Given the description of an element on the screen output the (x, y) to click on. 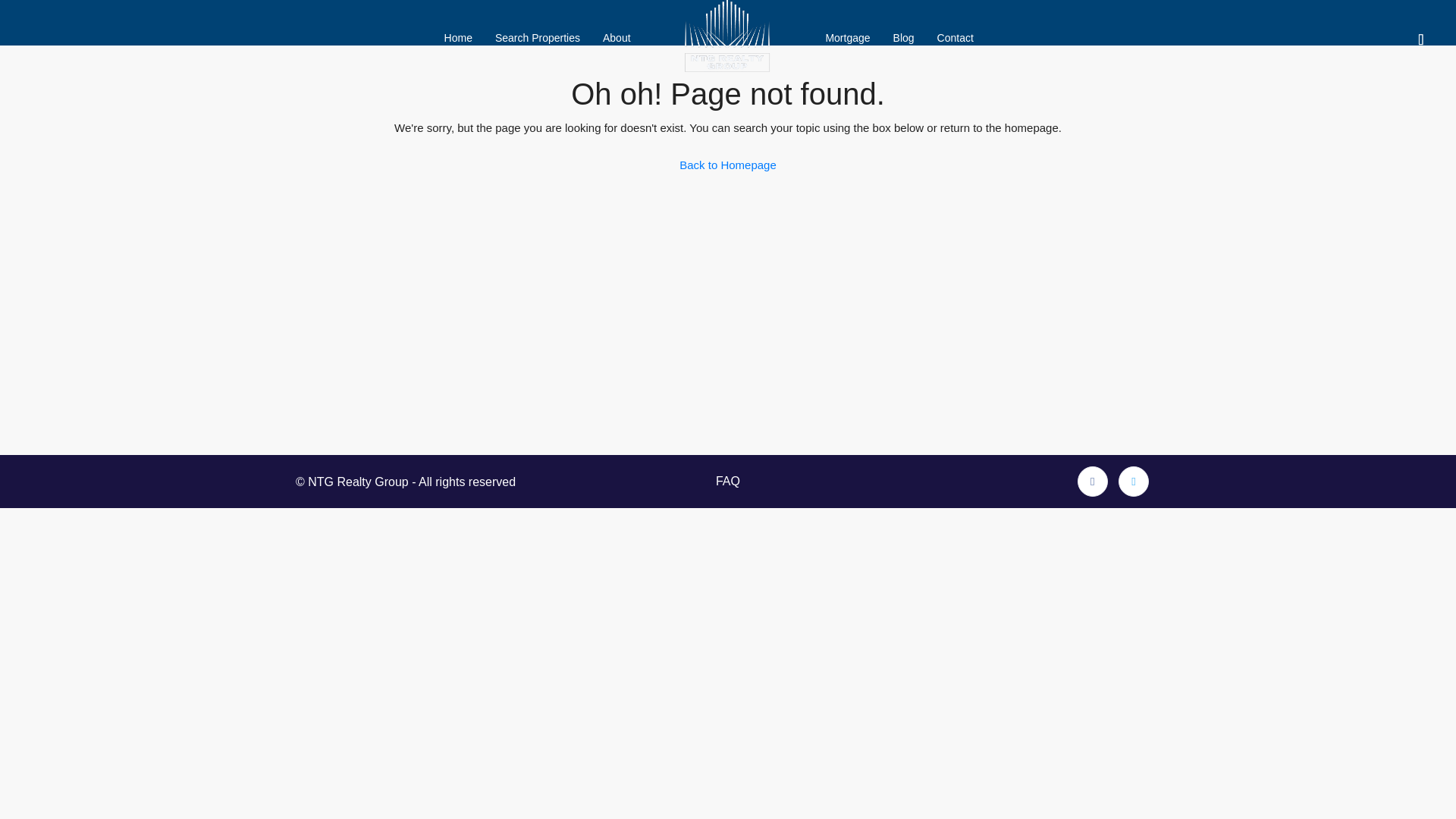
About (616, 37)
Mortgage (846, 37)
Home (457, 37)
FAQ (727, 481)
Contact (955, 37)
Search Properties (537, 37)
Blog (904, 37)
Back to Homepage (727, 164)
